Given the description of an element on the screen output the (x, y) to click on. 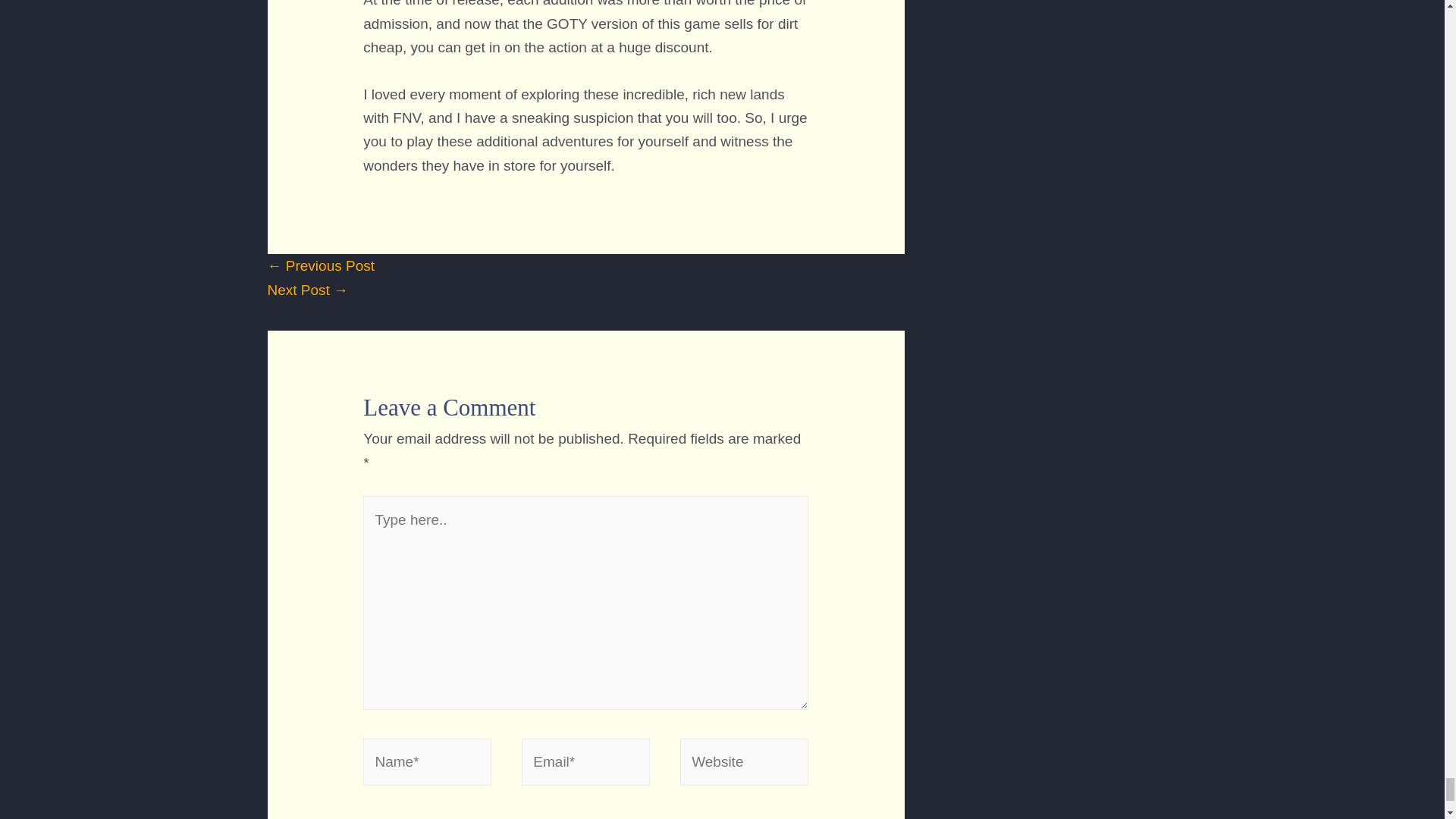
Fallout 3 Location Guide (306, 289)
Fallout 4 Location Guide (320, 265)
